Given the description of an element on the screen output the (x, y) to click on. 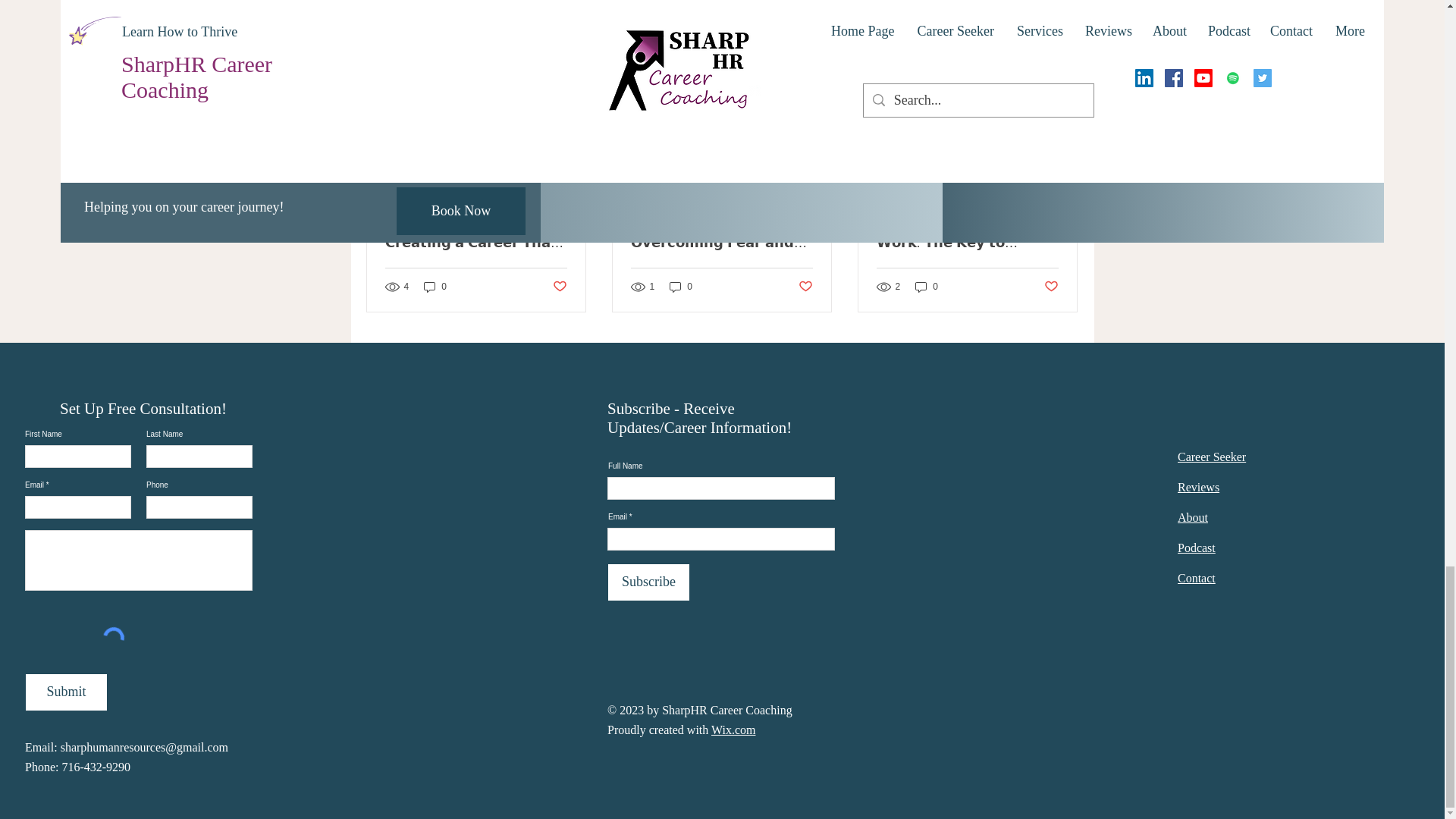
0 (435, 287)
0 (681, 287)
Post not marked as liked (558, 286)
Post not marked as liked (804, 286)
See All (1061, 49)
0 (926, 287)
